Given the description of an element on the screen output the (x, y) to click on. 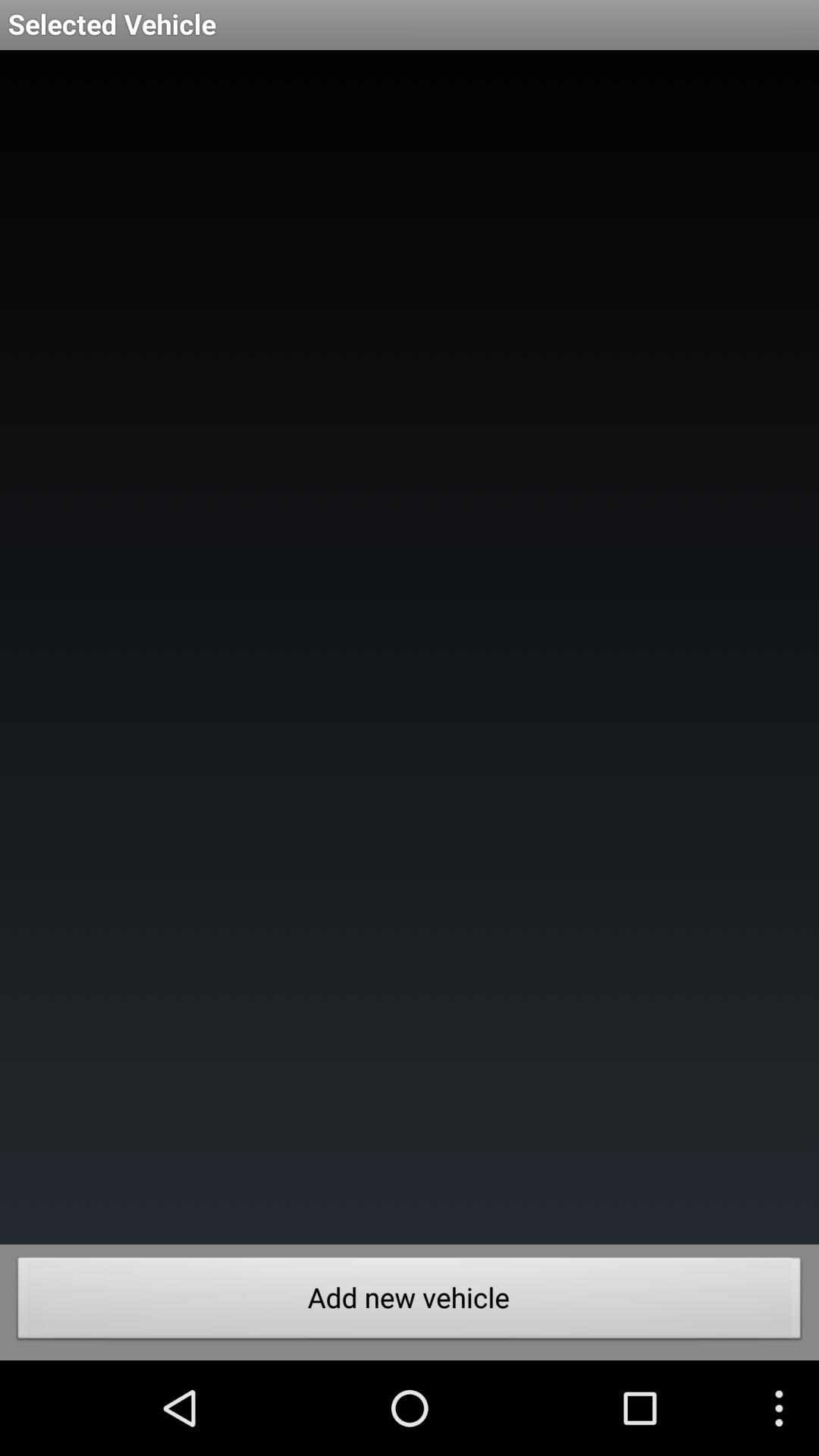
swipe to the add new vehicle (409, 1302)
